Given the description of an element on the screen output the (x, y) to click on. 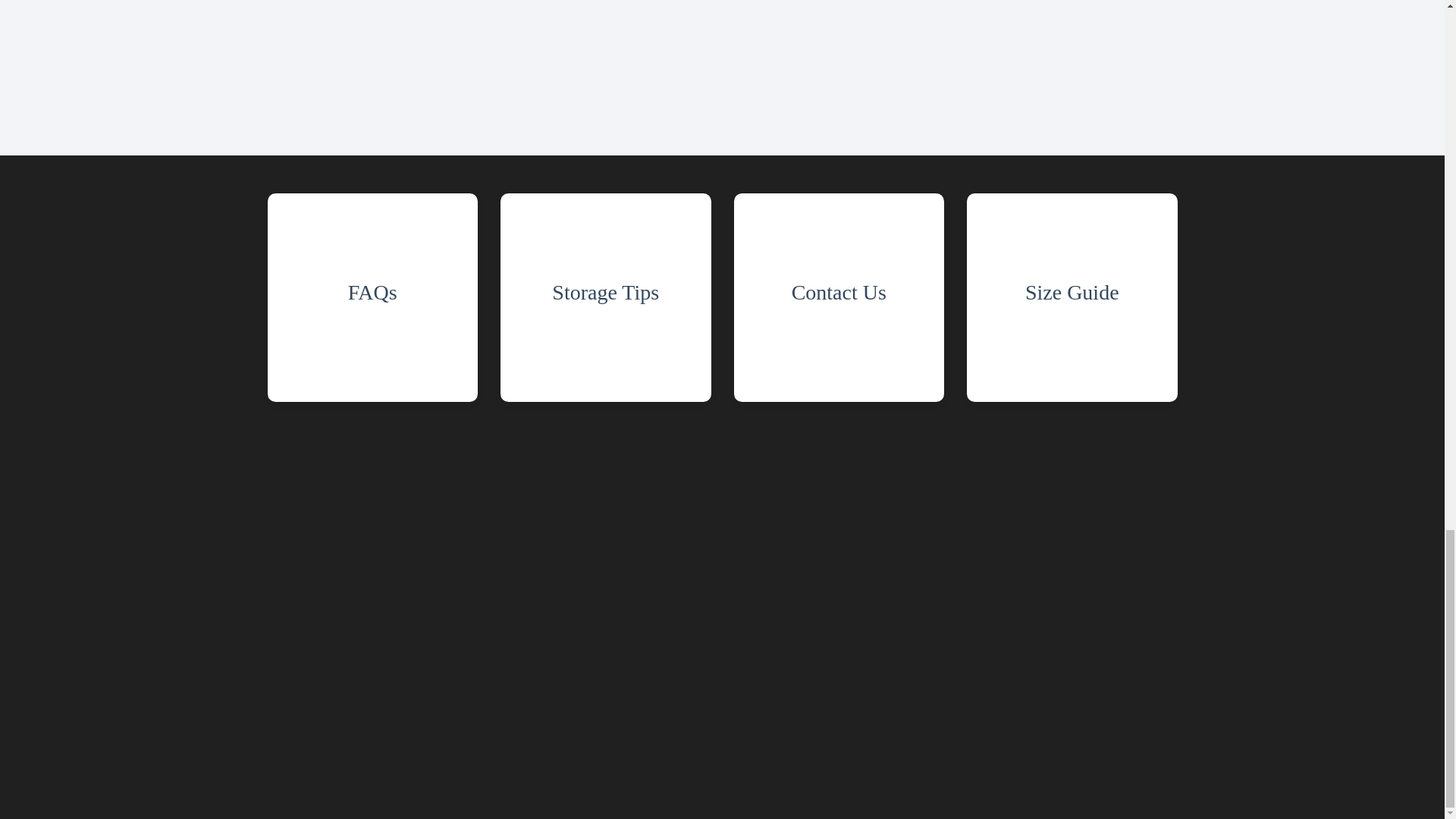
Contact Us (838, 297)
Storage Tips (605, 297)
Size Guide (1071, 297)
FAQs (371, 297)
